Given the description of an element on the screen output the (x, y) to click on. 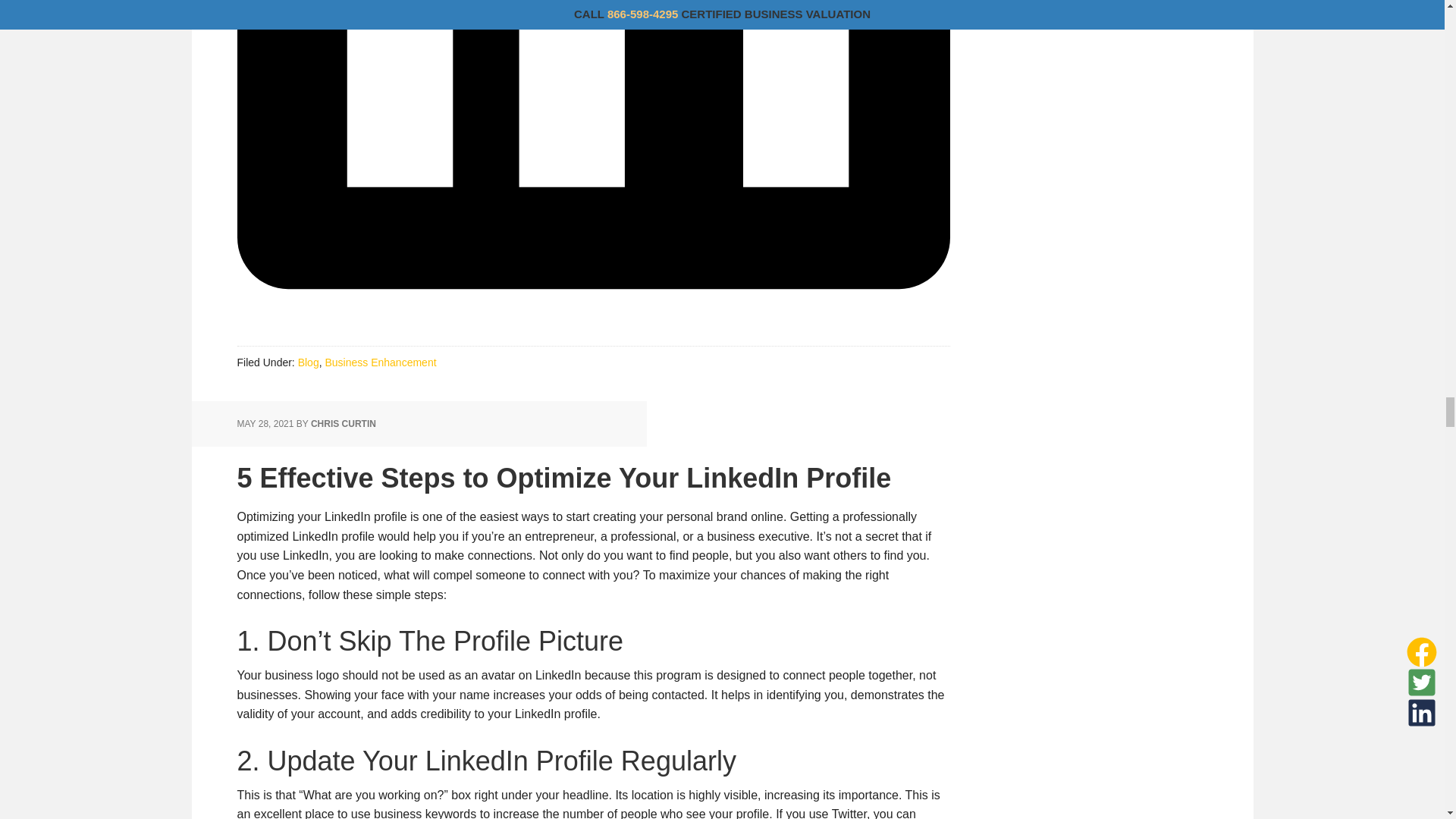
Business Enhancement (379, 362)
5 Effective Steps to Optimize Your LinkedIn Profile (563, 477)
CHRIS CURTIN (343, 423)
Blog (308, 362)
